Given the description of an element on the screen output the (x, y) to click on. 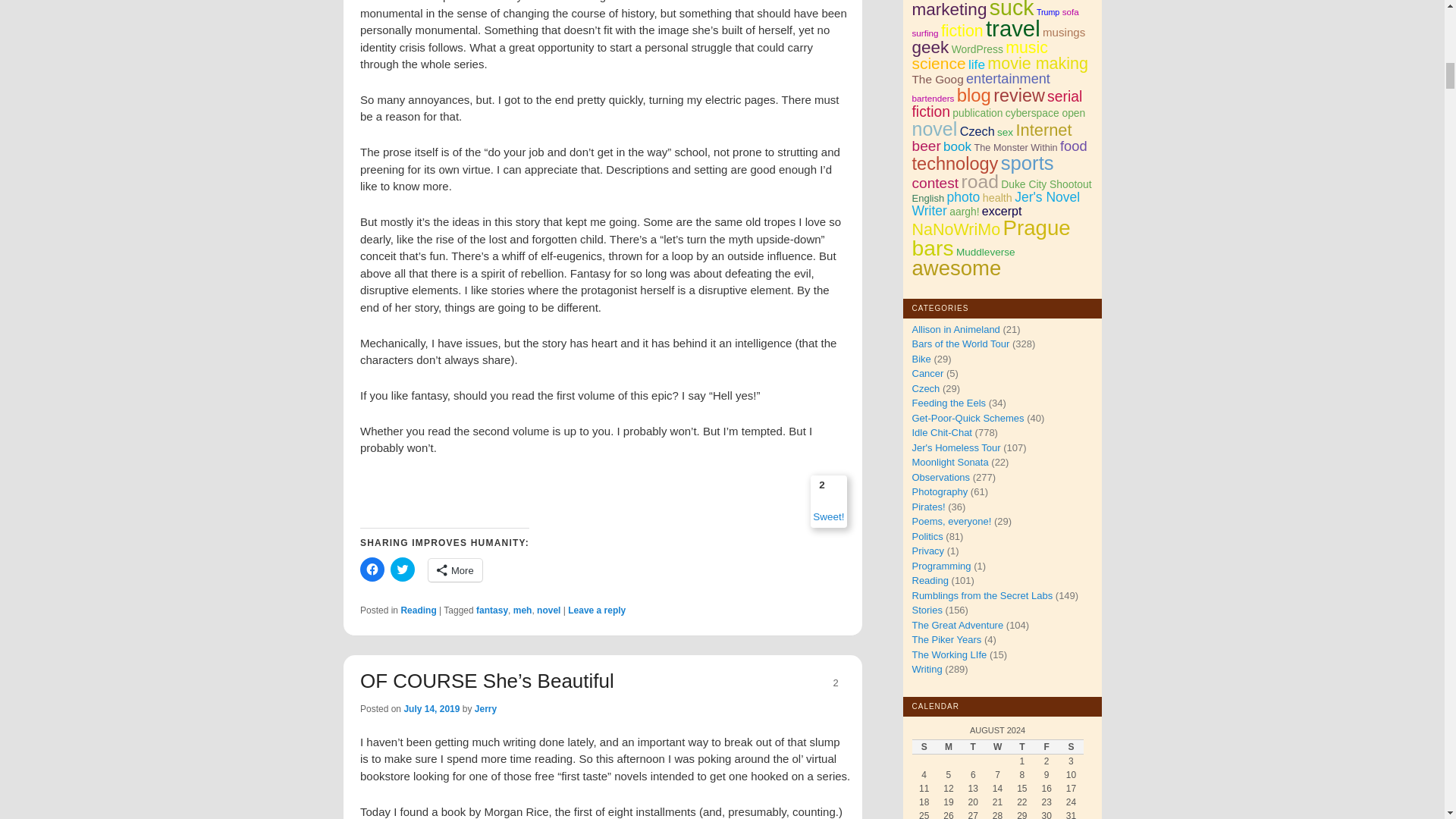
Jerry (485, 708)
meh (522, 610)
Sweet! (828, 516)
View all posts by Jerry (485, 708)
Reading (417, 610)
novel (548, 610)
Click to share on Facebook (371, 569)
July 14, 2019 (431, 708)
More (454, 569)
2 (834, 682)
fantasy (492, 610)
Click to share on Twitter (402, 569)
5:37 pm (431, 708)
Leave a reply (596, 610)
